Given the description of an element on the screen output the (x, y) to click on. 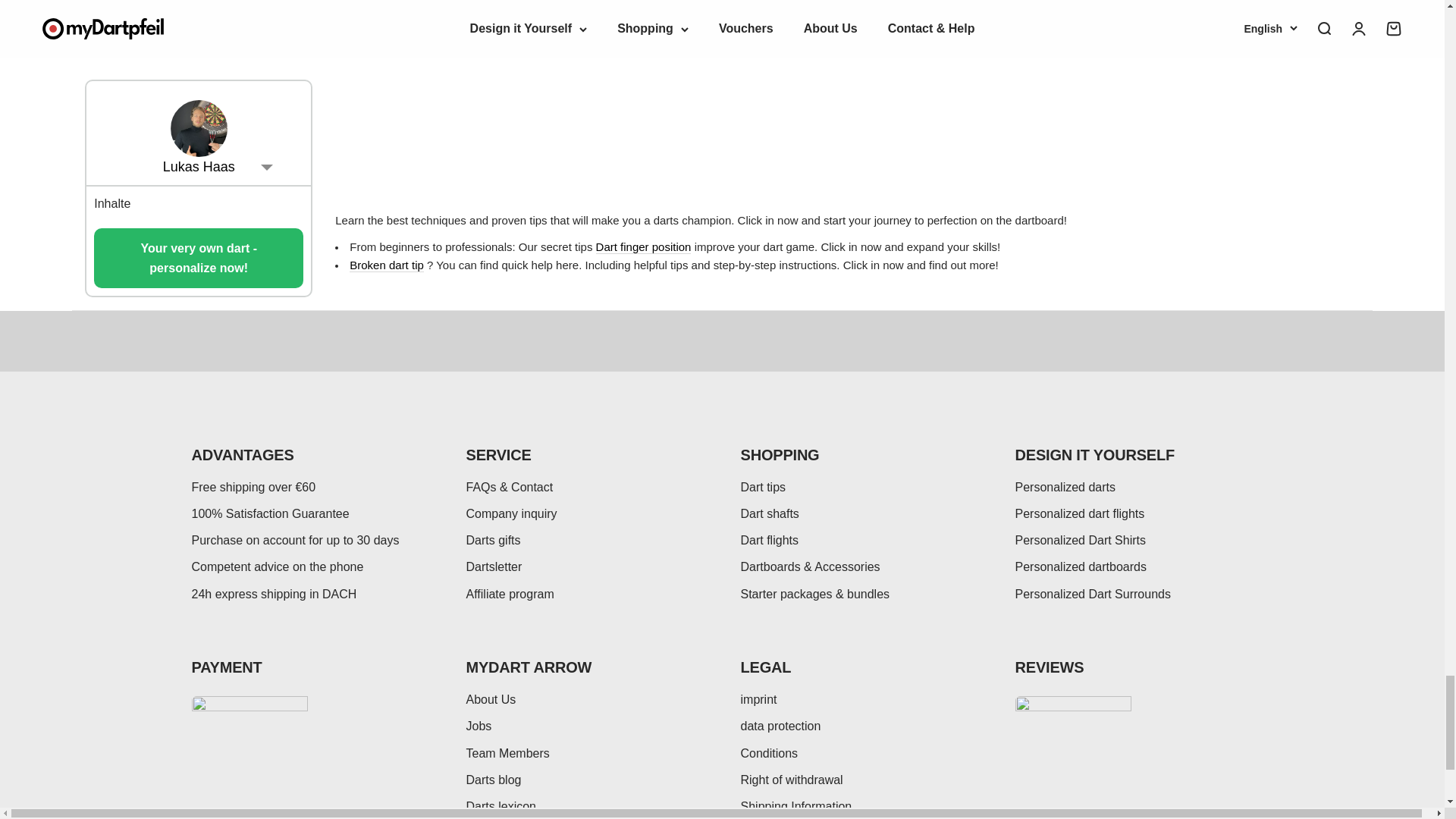
Affiliate partner program (509, 594)
Dart flights (768, 540)
Darts gifts for darts players (492, 540)
Dartsletter (493, 566)
Dart tips (762, 486)
Company inquiry (510, 513)
Dart shafts (768, 513)
